Given the description of an element on the screen output the (x, y) to click on. 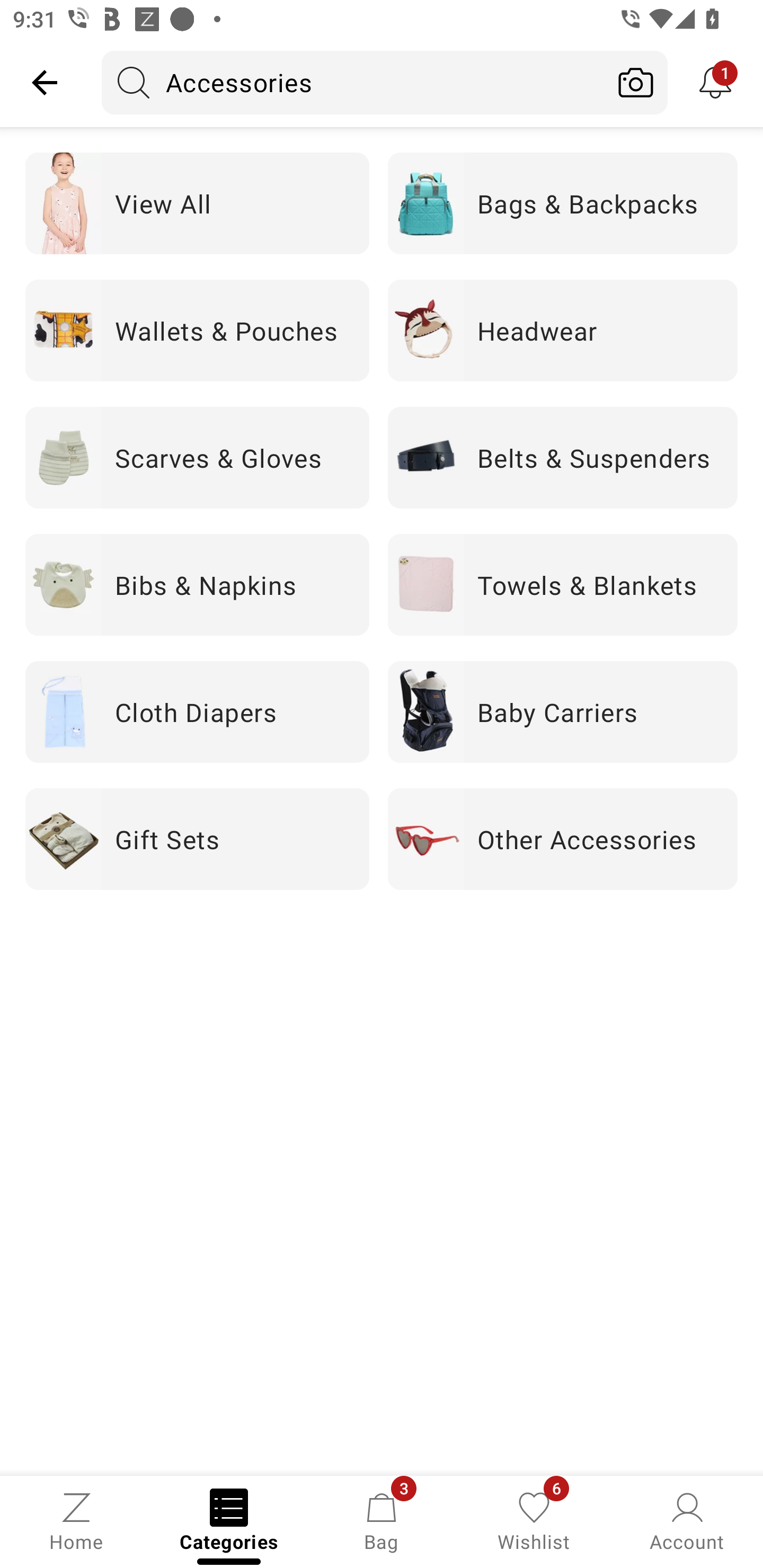
Navigate up (44, 82)
Accessories (352, 82)
View All (197, 203)
Bags & Backpacks (562, 203)
Wallets & Pouches (197, 330)
Headwear (562, 330)
Scarves & Gloves (197, 457)
Belts & Suspenders (562, 457)
Bibs & Napkins (197, 584)
Towels & Blankets (562, 584)
Cloth Diapers (197, 711)
Baby Carriers (562, 711)
Gift Sets (197, 839)
Other Accessories (562, 839)
Home (76, 1519)
Bag, 3 new notifications Bag (381, 1519)
Wishlist, 6 new notifications Wishlist (533, 1519)
Account (686, 1519)
